Given the description of an element on the screen output the (x, y) to click on. 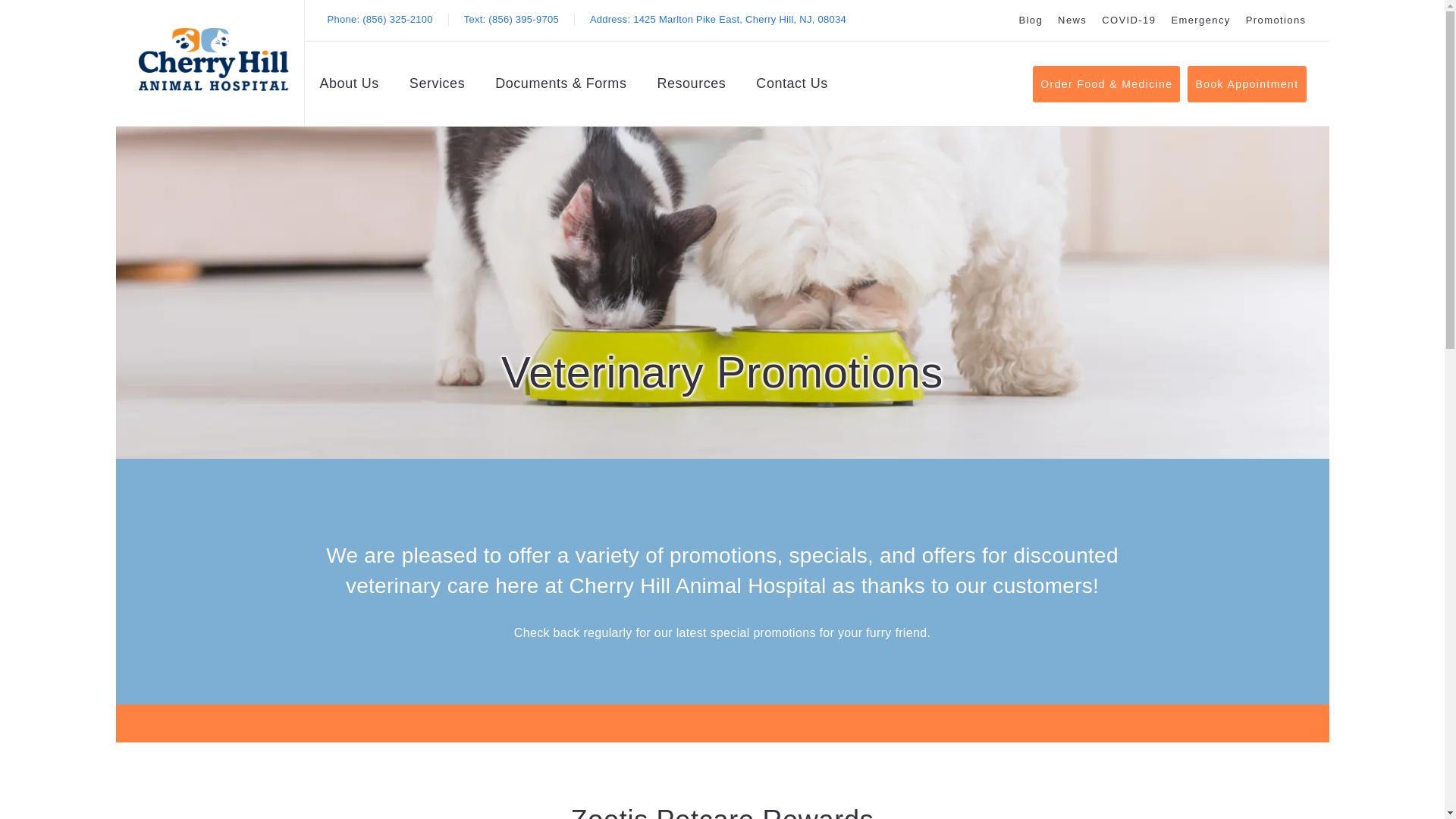
Emergency (1200, 20)
Logo (717, 19)
Blog (213, 59)
Address: 1425 Marlton Pike East, Cherry Hill, NJ, 08034 (1029, 20)
COVID-19 (717, 19)
About Us (1129, 20)
Contact Us (349, 86)
Promotions (791, 86)
Emergency (1276, 20)
Promotions (1200, 20)
News (1276, 20)
Resources (1072, 20)
Blog (690, 86)
About Us (1029, 20)
